Given the description of an element on the screen output the (x, y) to click on. 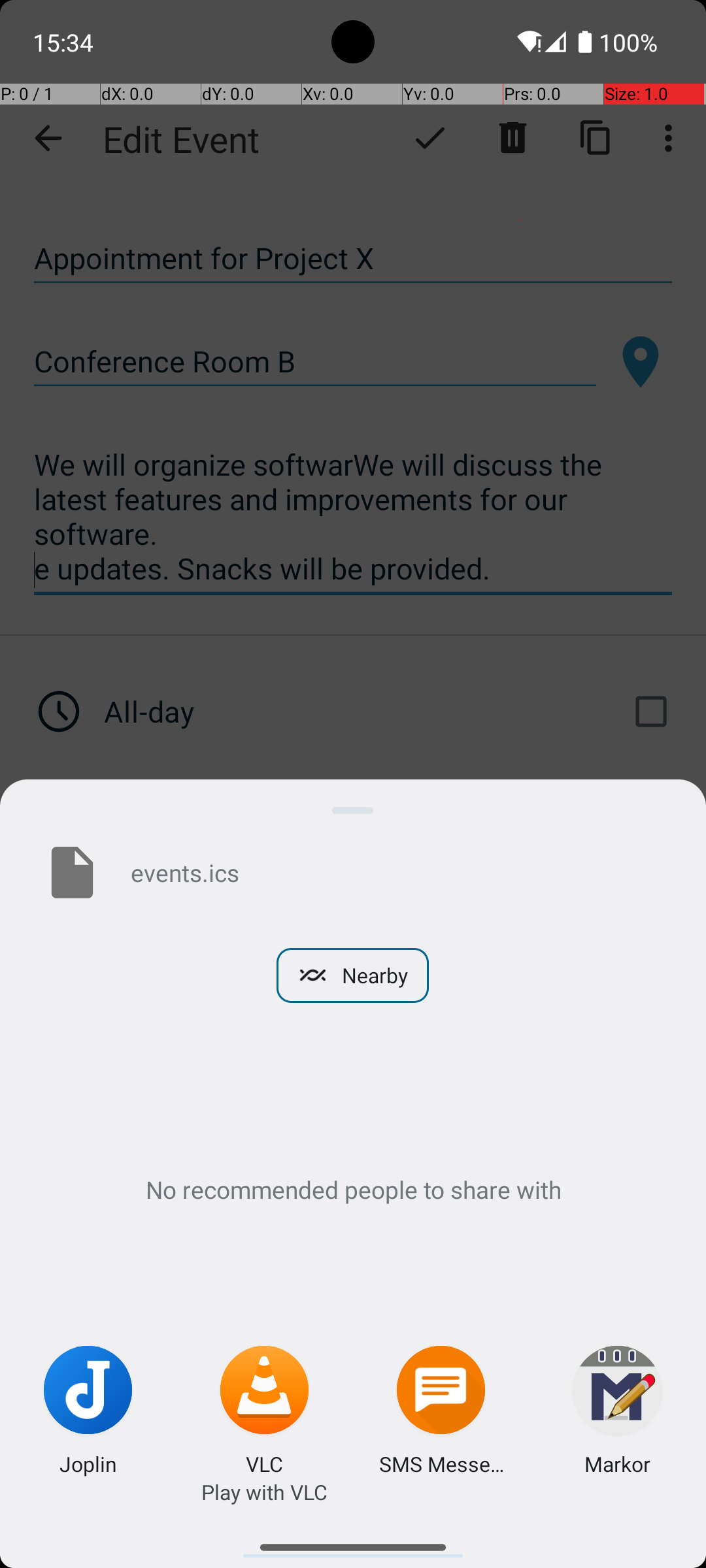
events.ics Element type: android.widget.TextView (397, 872)
